Given the description of an element on the screen output the (x, y) to click on. 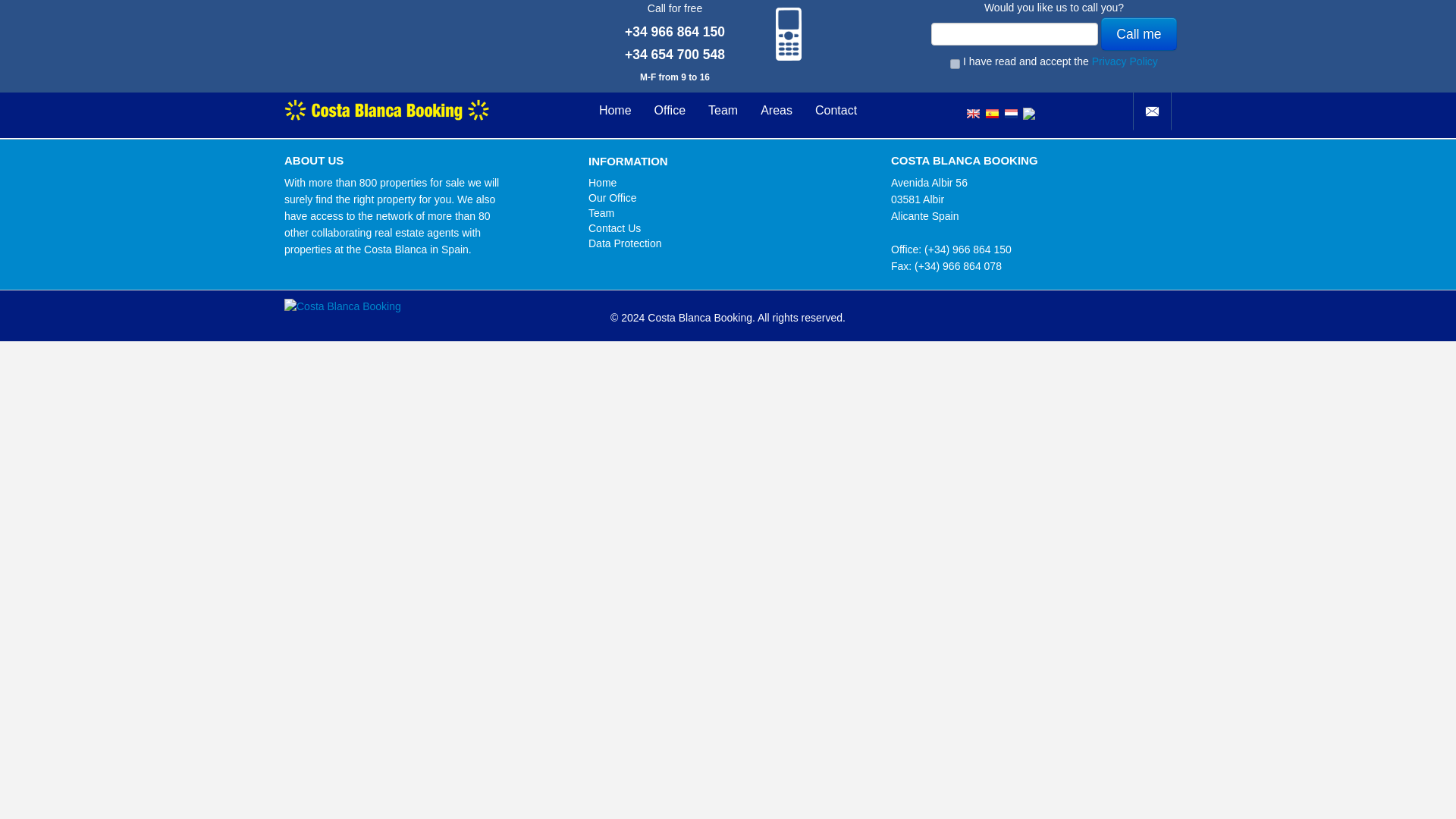
Our Office (612, 197)
Contact Costa Blanca Booking (1152, 111)
Home (601, 182)
Privacy Policy (1124, 61)
Nederlands (1010, 105)
Office (670, 110)
Team (601, 213)
Team (723, 110)
English (972, 105)
Contact Us (614, 227)
Home (615, 110)
Areas (776, 110)
Call me (1138, 33)
Data Protection (625, 243)
Contact (1152, 111)
